Given the description of an element on the screen output the (x, y) to click on. 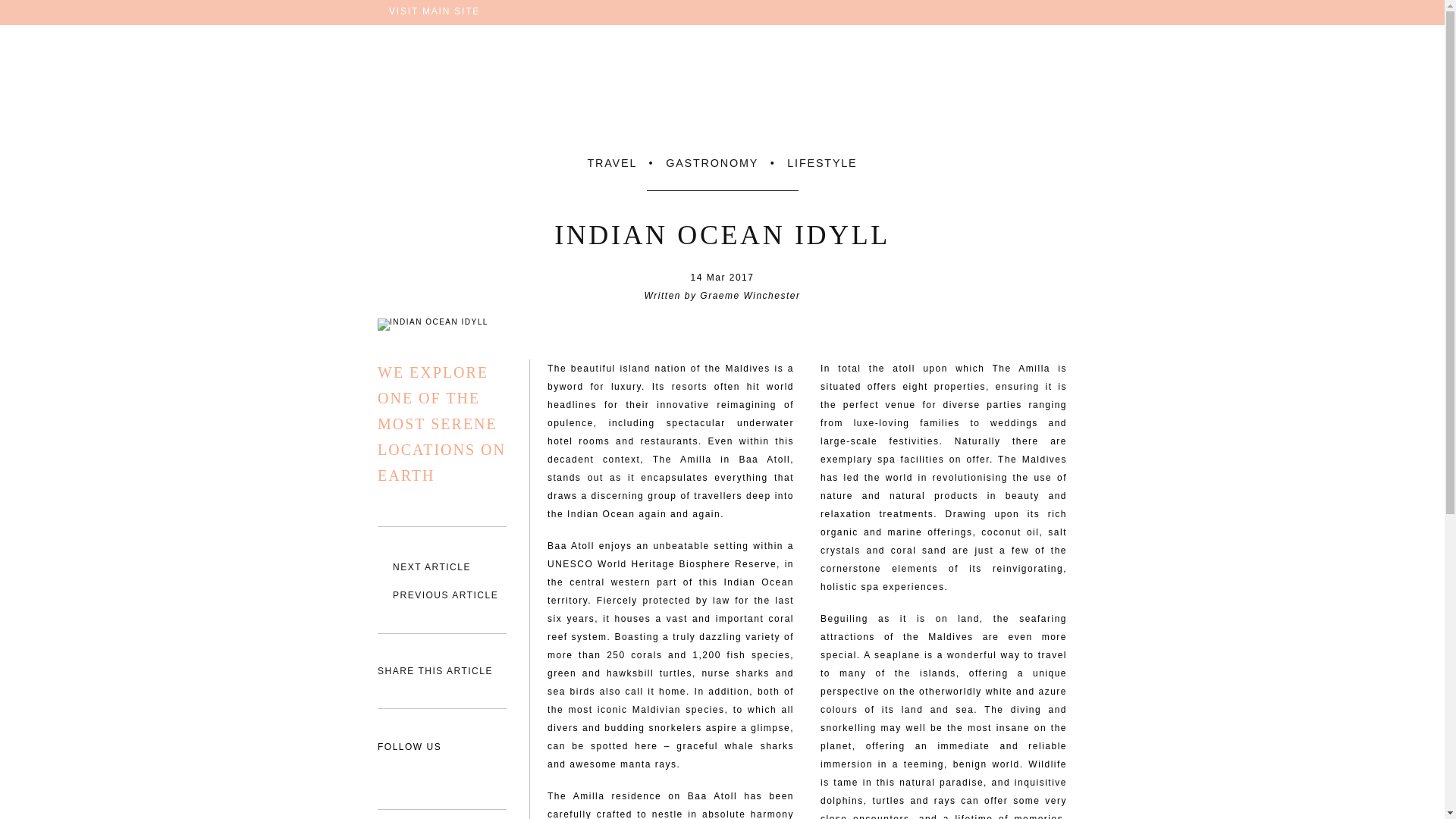
Instagram (389, 772)
LIFESTYLE (822, 162)
Return to Luxxo Landing Page (721, 92)
NEXT ARTICLE (441, 566)
GASTRONOMY (711, 162)
PREVIOUS ARTICLE (441, 595)
Luxxo (721, 92)
VISIT MAIN SITE (428, 10)
TRAVEL (611, 162)
Twitter (421, 771)
